Given the description of an element on the screen output the (x, y) to click on. 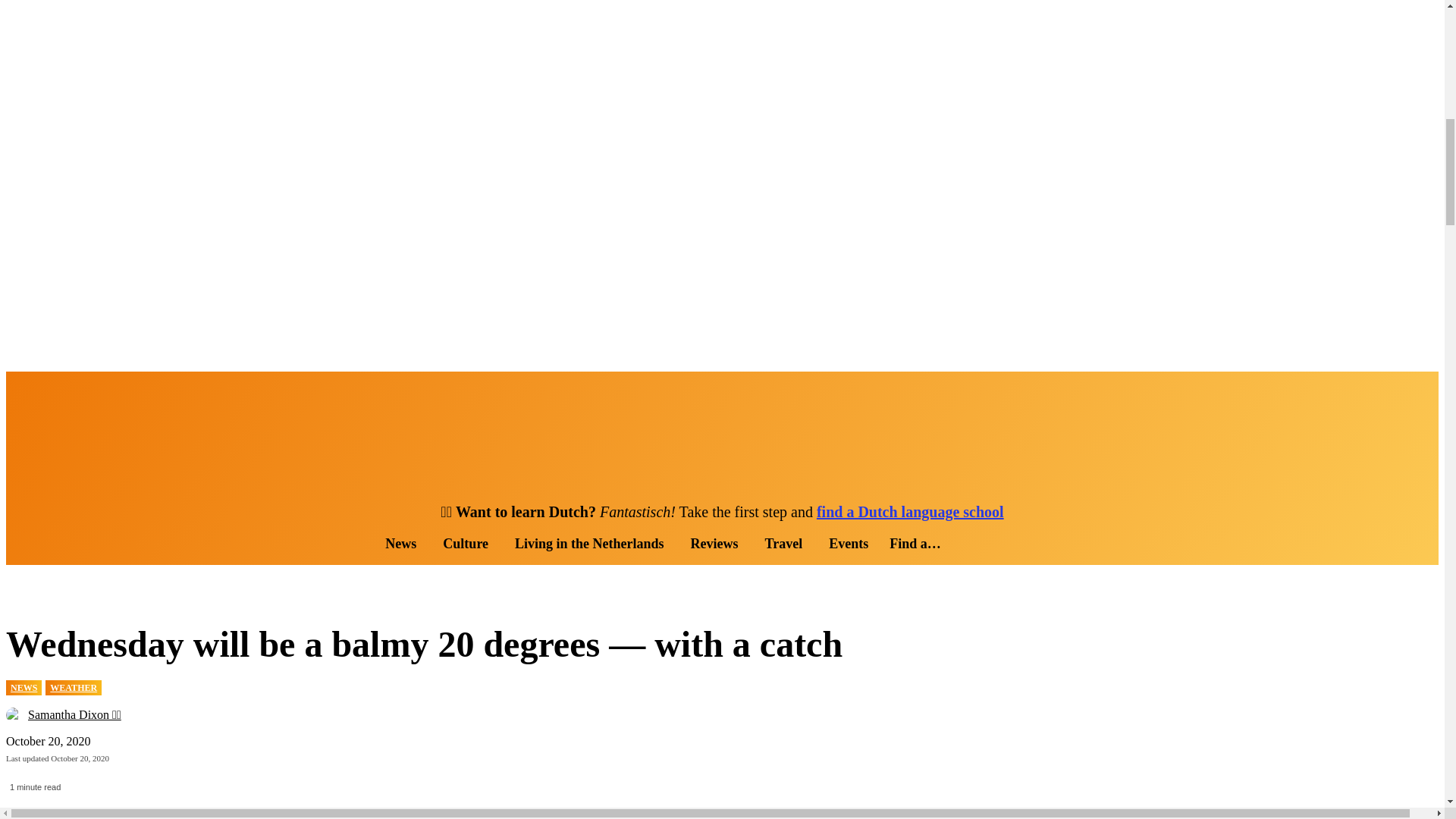
Twitter (66, 387)
Linkedin (49, 387)
Instagram (31, 387)
Facebook (14, 387)
Youtube (84, 387)
